Given the description of an element on the screen output the (x, y) to click on. 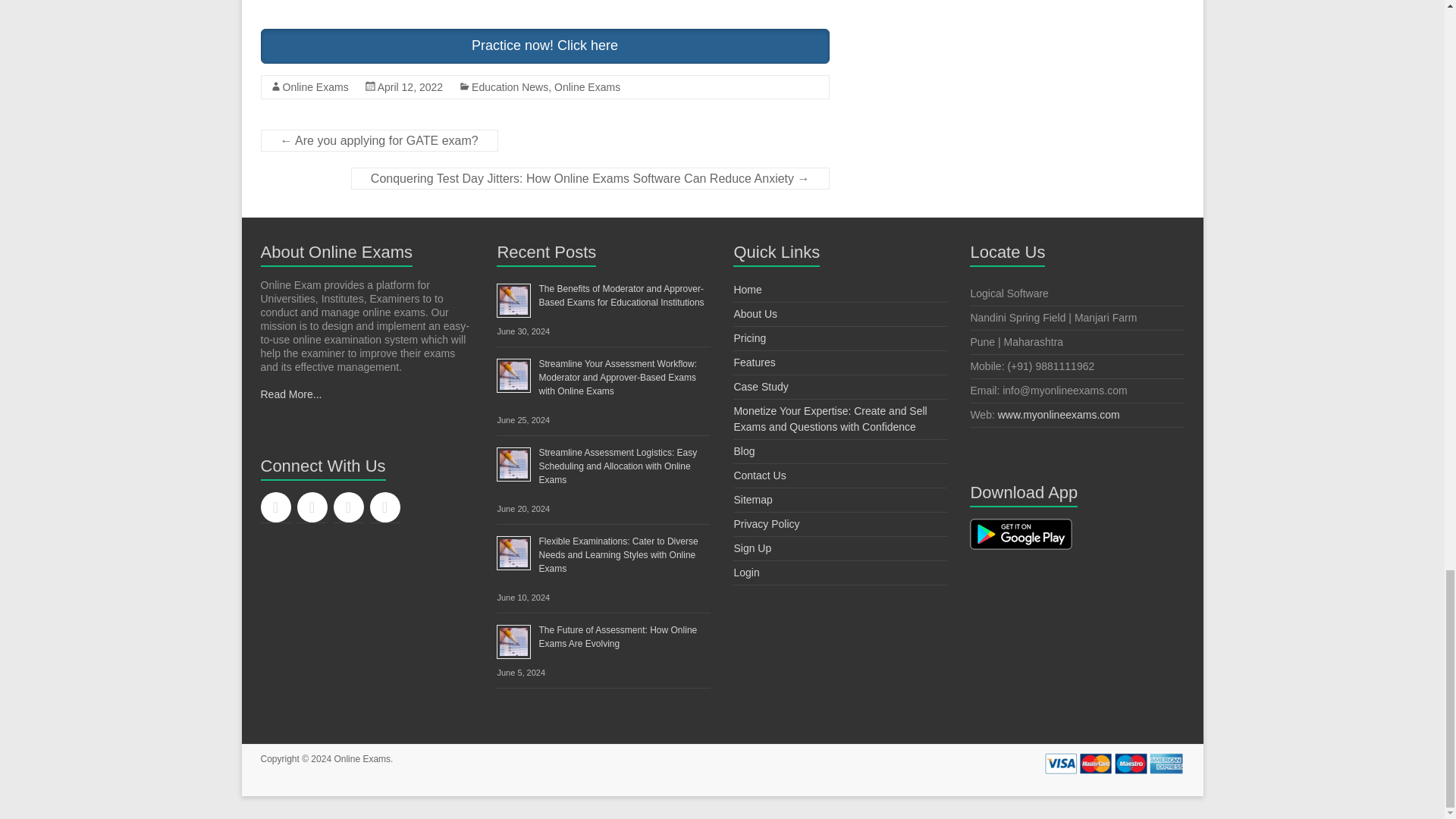
Facebook (275, 507)
Education News (509, 87)
YouTube (312, 507)
RSS (348, 507)
Phone (384, 507)
Online Exams (587, 87)
April 12, 2022 (409, 87)
Online Exams (361, 758)
Online Exams (314, 87)
6:17 pm (409, 87)
